Given the description of an element on the screen output the (x, y) to click on. 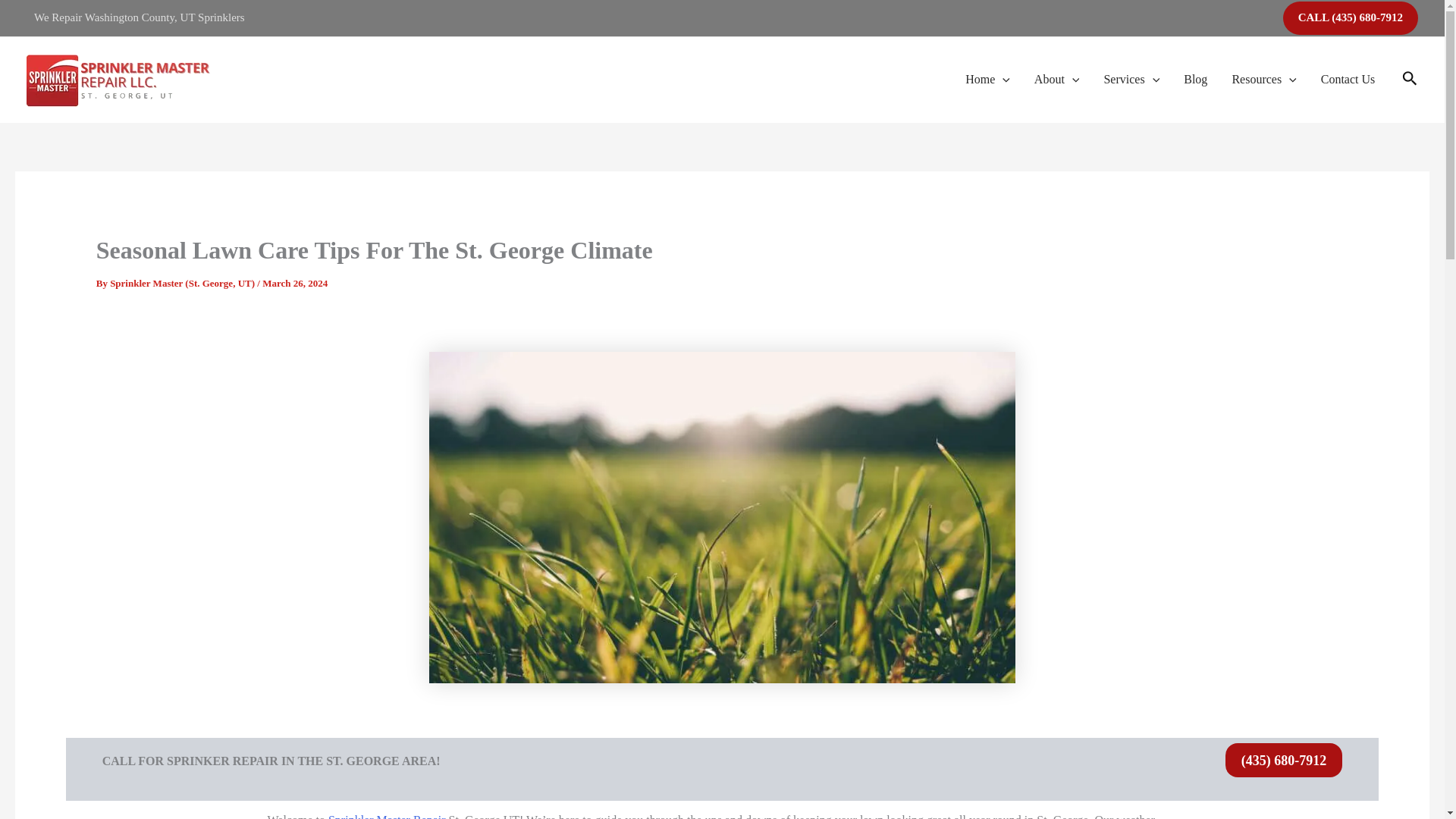
Resources (1263, 79)
Contact Us (1347, 79)
Services (1131, 79)
